Given the description of an element on the screen output the (x, y) to click on. 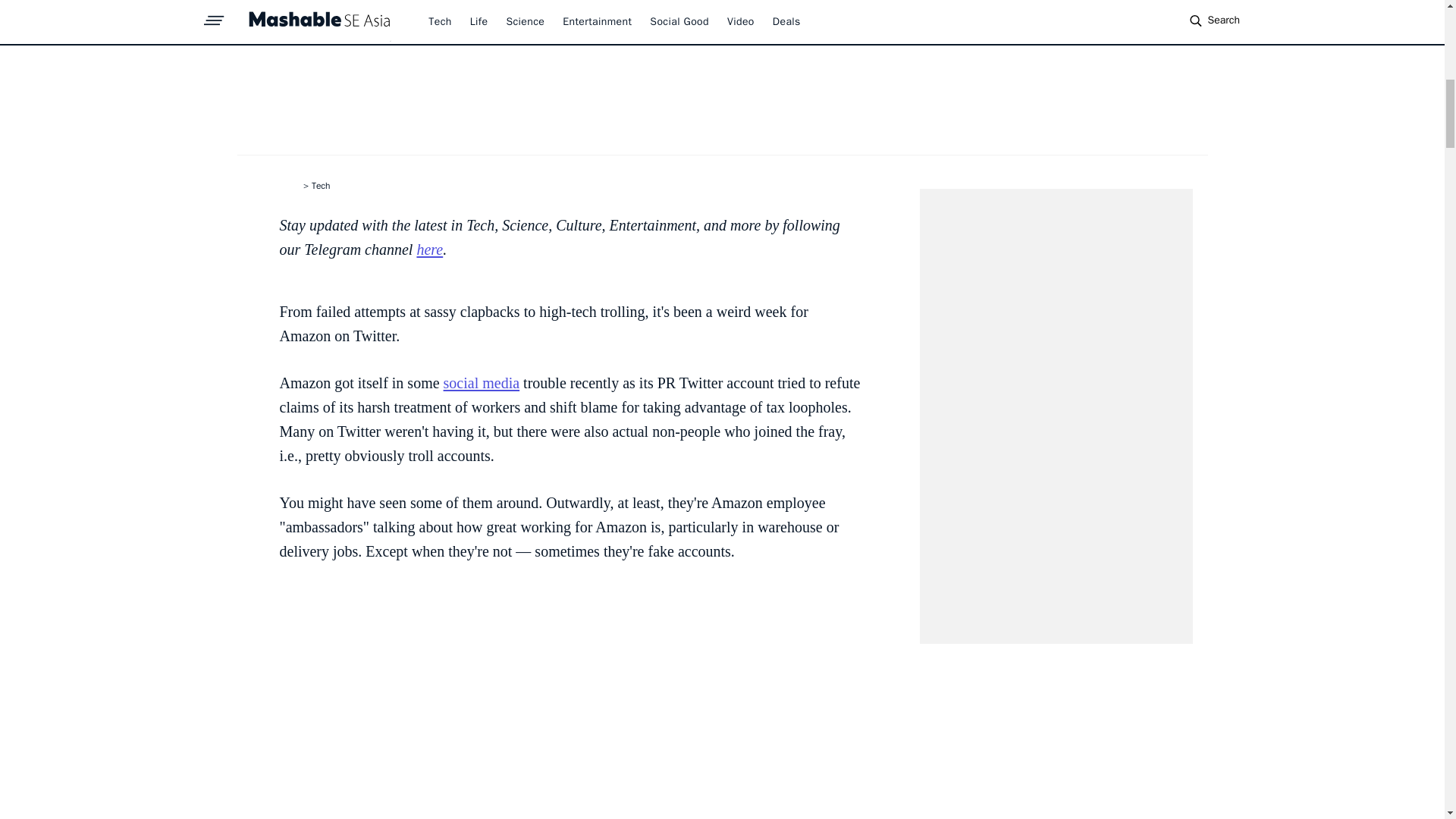
here (429, 248)
Twitter Tweet (570, 702)
social media (481, 382)
